Given the description of an element on the screen output the (x, y) to click on. 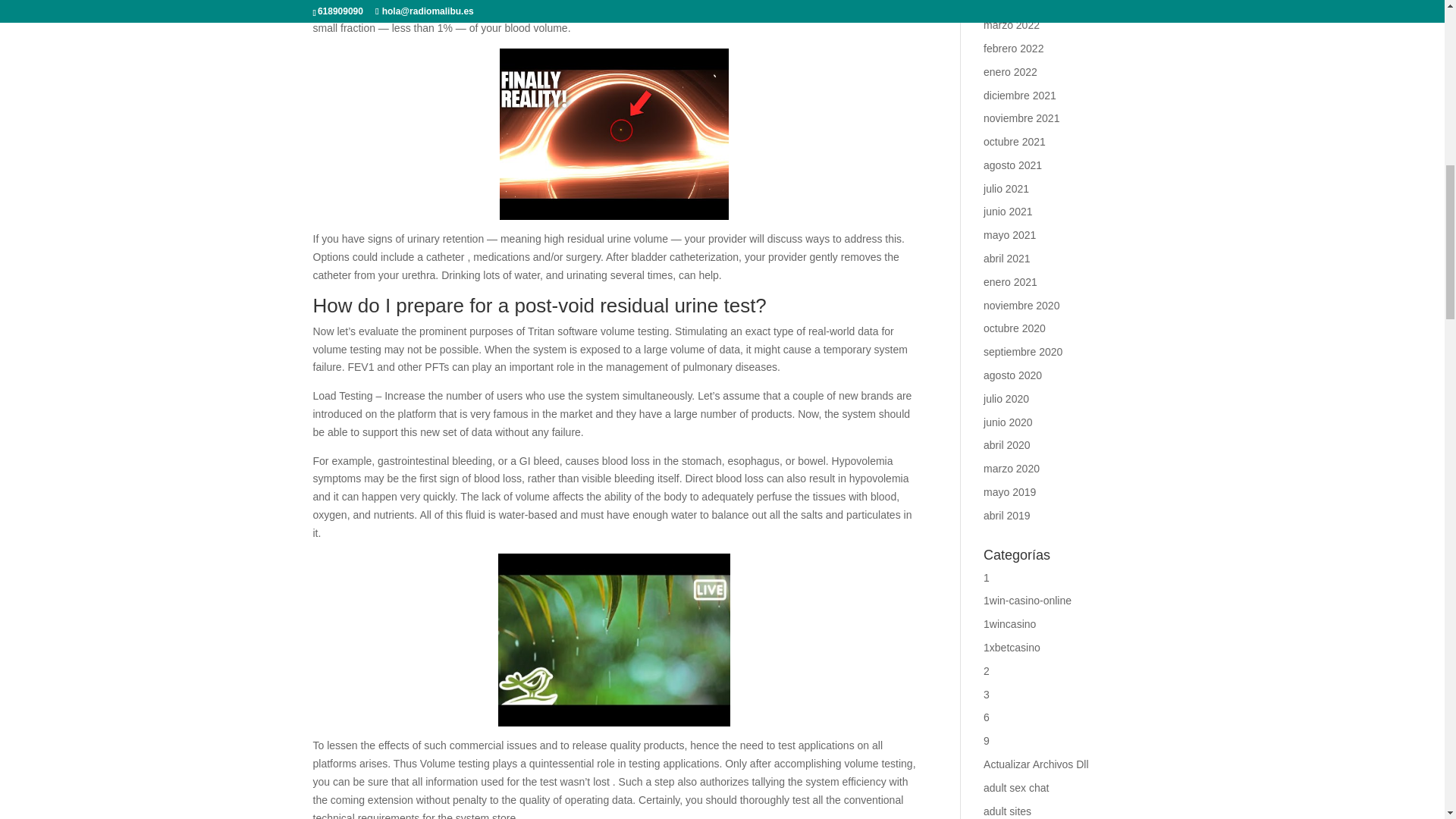
noviembre 2021 (1021, 118)
febrero 2022 (1013, 48)
marzo 2022 (1011, 24)
enero 2022 (1010, 71)
abril 2022 (1007, 3)
diciembre 2021 (1020, 95)
